Given the description of an element on the screen output the (x, y) to click on. 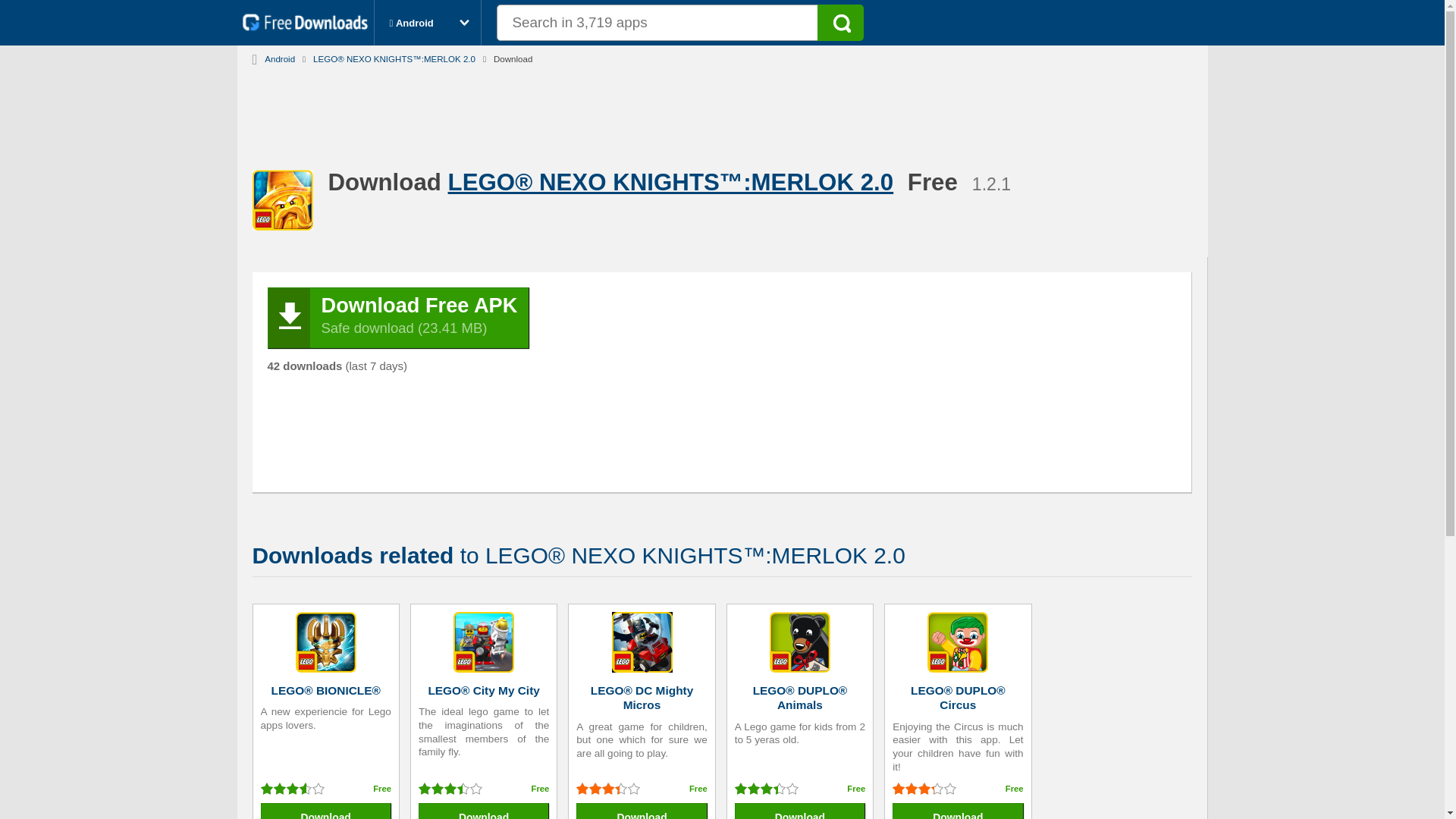
Android (279, 55)
Advertisement (722, 109)
Download (641, 811)
lego bionicle: Software of Lego games (325, 642)
PortalProgramas (307, 26)
lego nexo knights merlok: Software of Lego games (674, 182)
Advertisement (733, 381)
Download (957, 811)
Download (325, 811)
Download (483, 811)
Download (799, 811)
lego nexo knights merlok: Software of Lego games (394, 55)
